Given the description of an element on the screen output the (x, y) to click on. 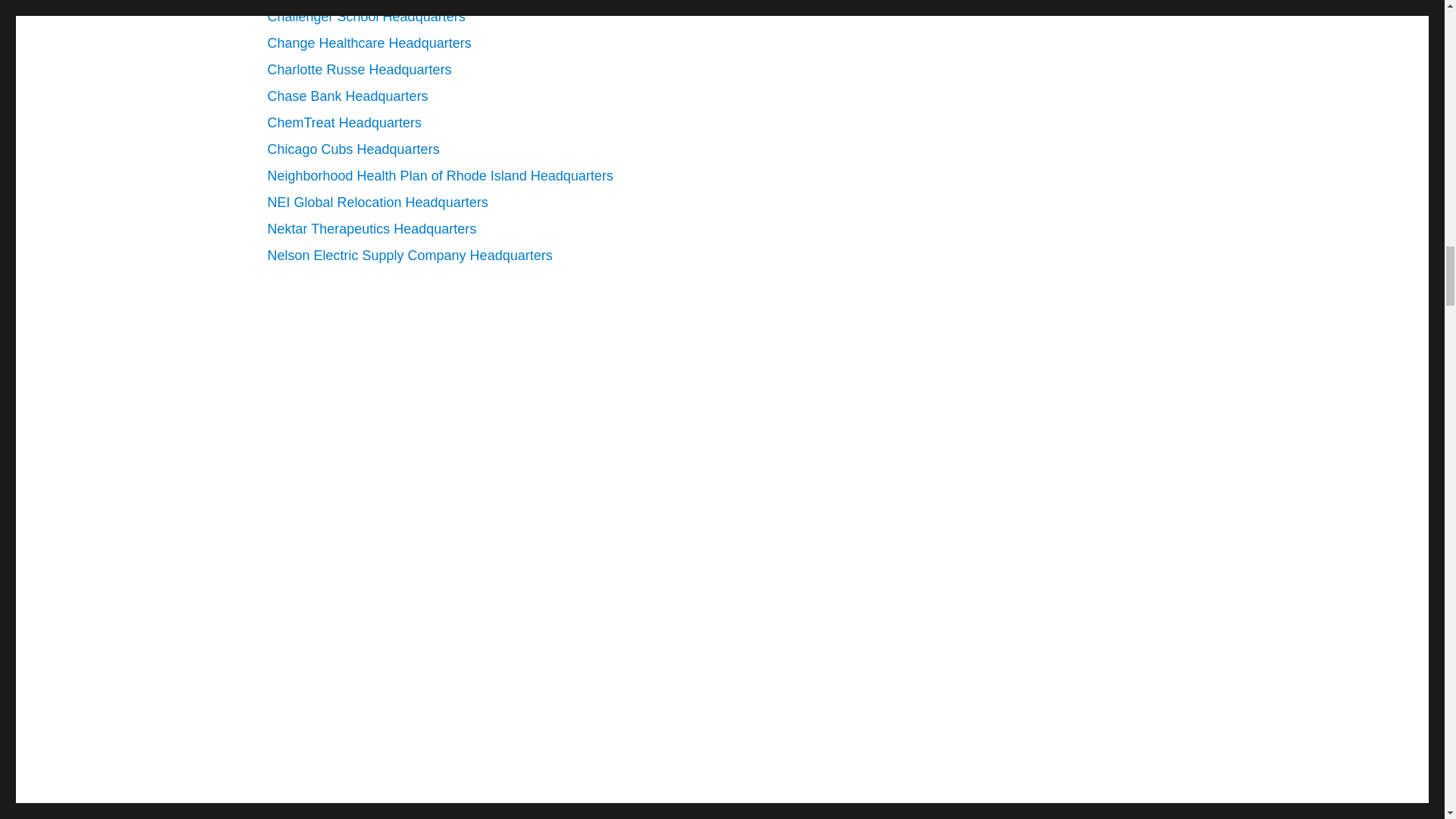
NEI Global Relocation Headquarters (376, 201)
Chase Bank Headquarters (347, 96)
Charlotte Russe Headquarters (358, 69)
ChemTreat Headquarters (343, 122)
Neighborhood Health Plan of Rhode Island Headquarters (439, 175)
Chicago Cubs Headquarters (352, 149)
Nelson Electric Supply Company Headquarters (408, 255)
Change Healthcare Headquarters (368, 43)
Challenger School Headquarters (365, 16)
Nektar Therapeutics Headquarters (371, 228)
